Given the description of an element on the screen output the (x, y) to click on. 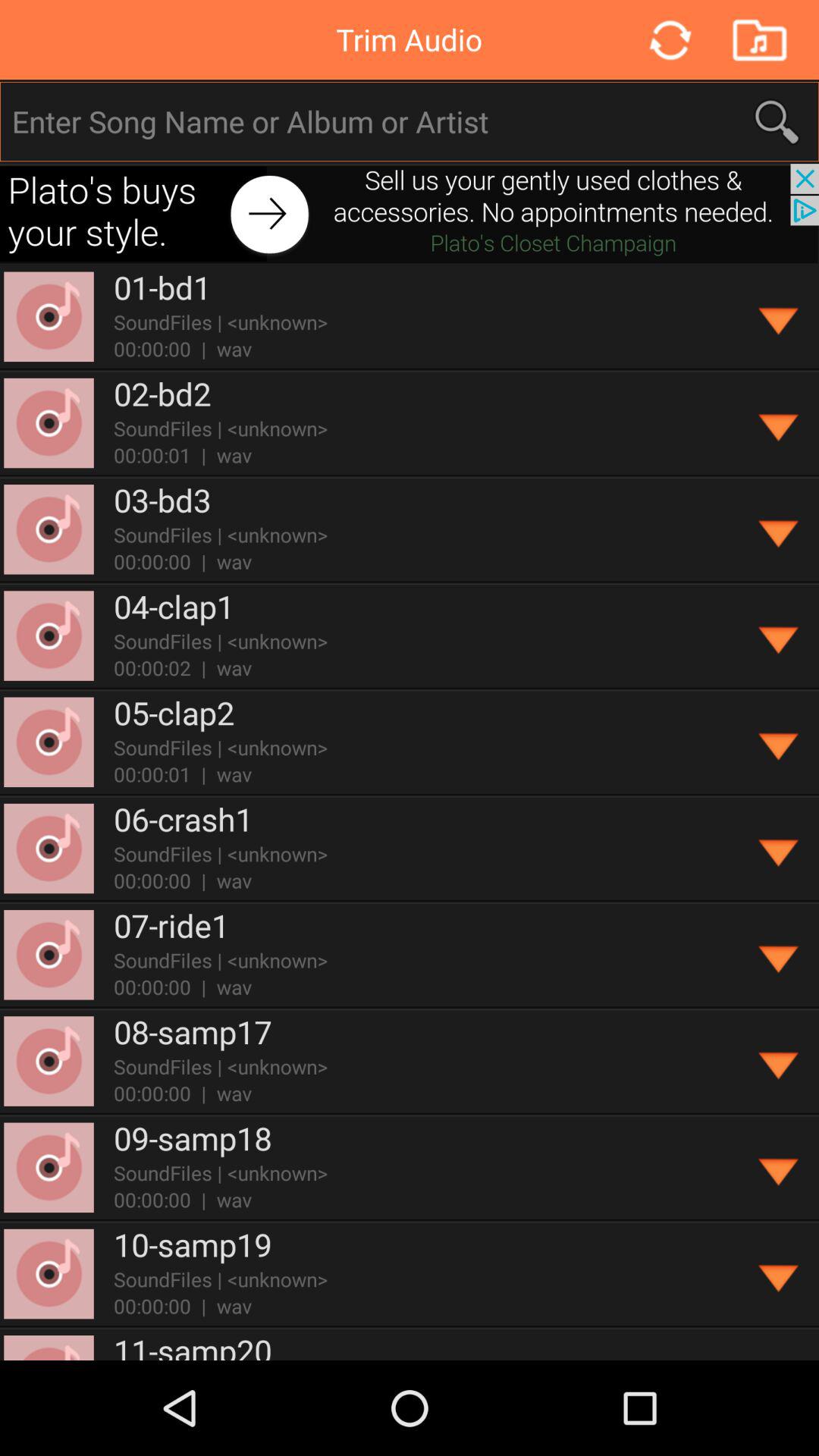
down (779, 1167)
